Given the description of an element on the screen output the (x, y) to click on. 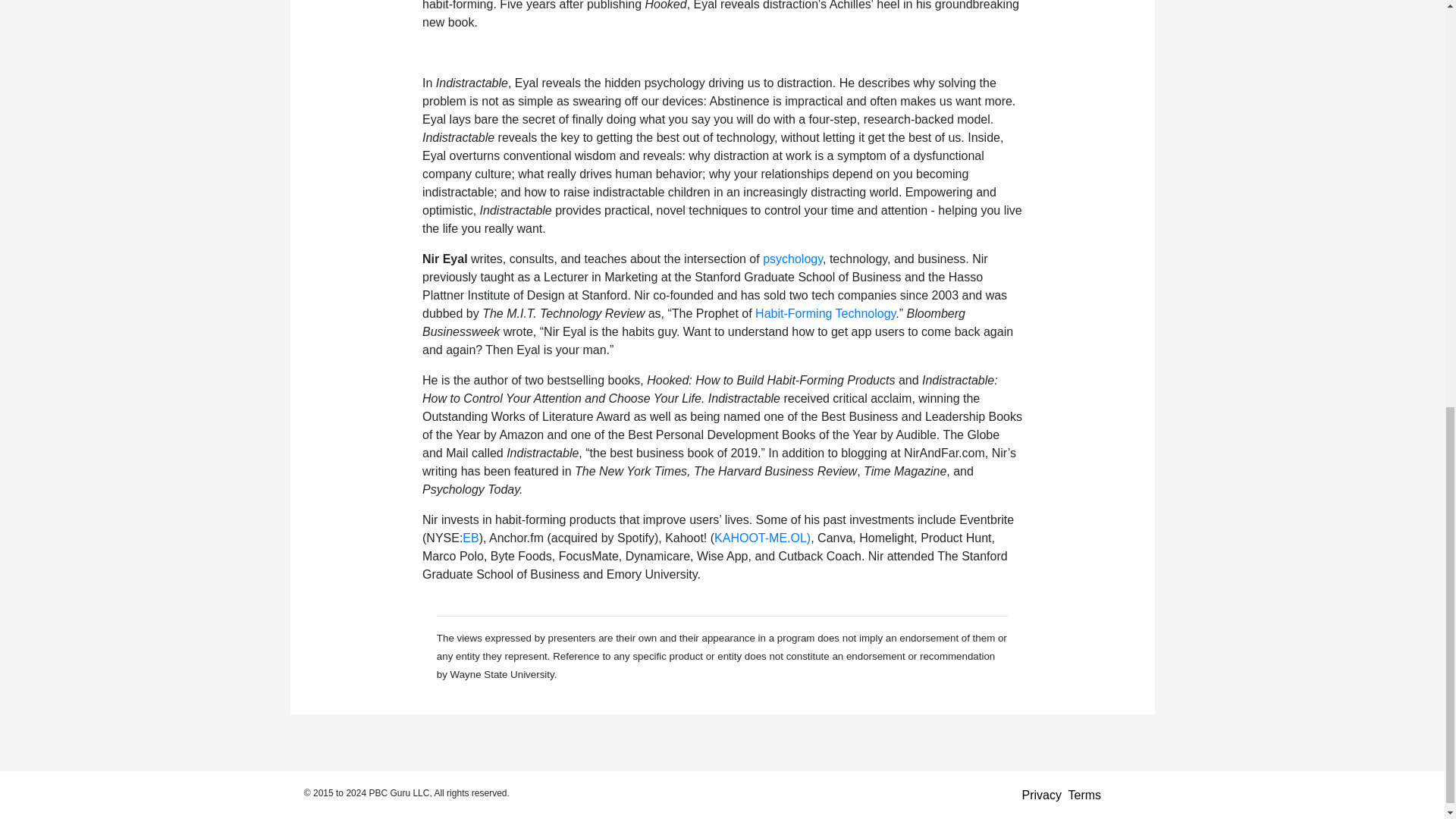
Terms (1085, 794)
Privacy (1041, 794)
Habit-Forming Technology (825, 313)
EB (471, 537)
KAHOOT-ME.OL (760, 537)
psychology (792, 258)
